Given the description of an element on the screen output the (x, y) to click on. 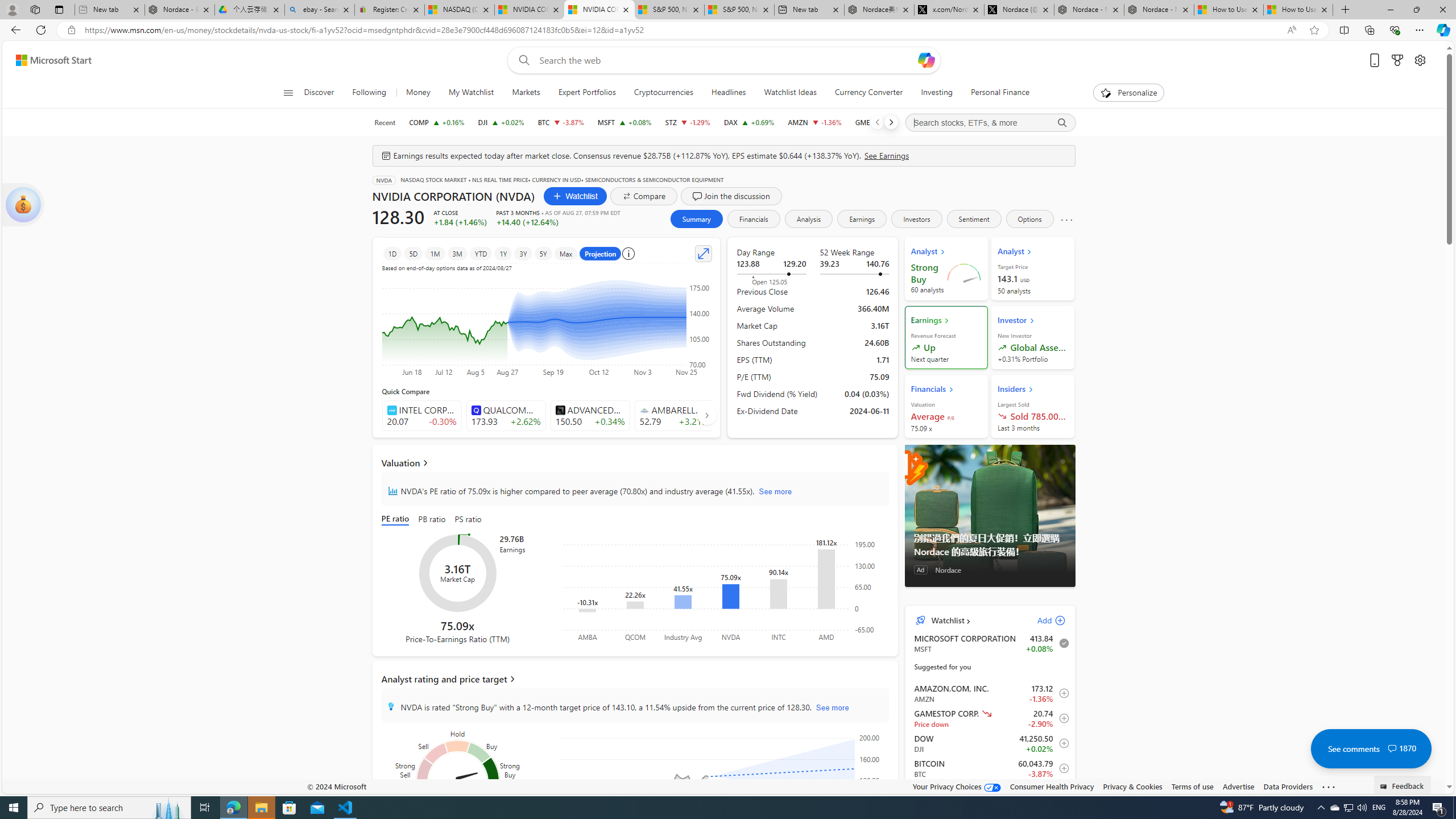
AutomationID: finance_carousel_navi_right (706, 415)
Class: feedback_link_icon-DS-EntryPoint1-1 (1384, 786)
Headlines (727, 92)
AMZN AMAZON.COM, INC. decrease 173.12 -2.38 -1.36% (814, 122)
Nordace (@NordaceOfficial) / X (1018, 9)
See comments 1870 (1370, 748)
Currency Converter (868, 92)
Next (890, 122)
